Given the description of an element on the screen output the (x, y) to click on. 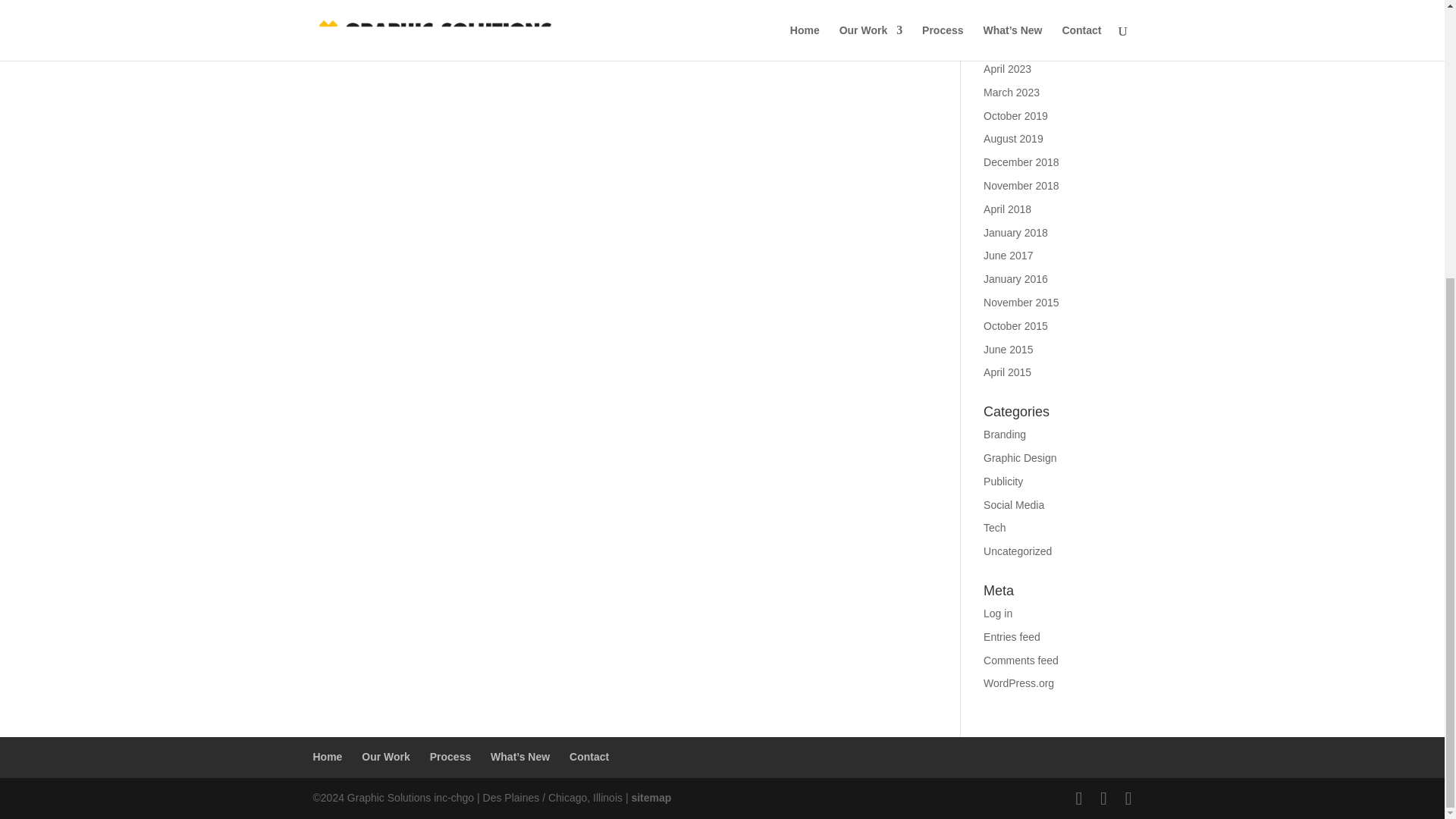
Log in (997, 613)
Comments feed (1021, 660)
Branding (1005, 434)
December 2018 (1021, 162)
April 2015 (1007, 372)
March 2023 (1011, 92)
November 2015 (1021, 302)
April 2023 (1007, 69)
October 2015 (1016, 326)
April 2018 (1007, 209)
